Given the description of an element on the screen output the (x, y) to click on. 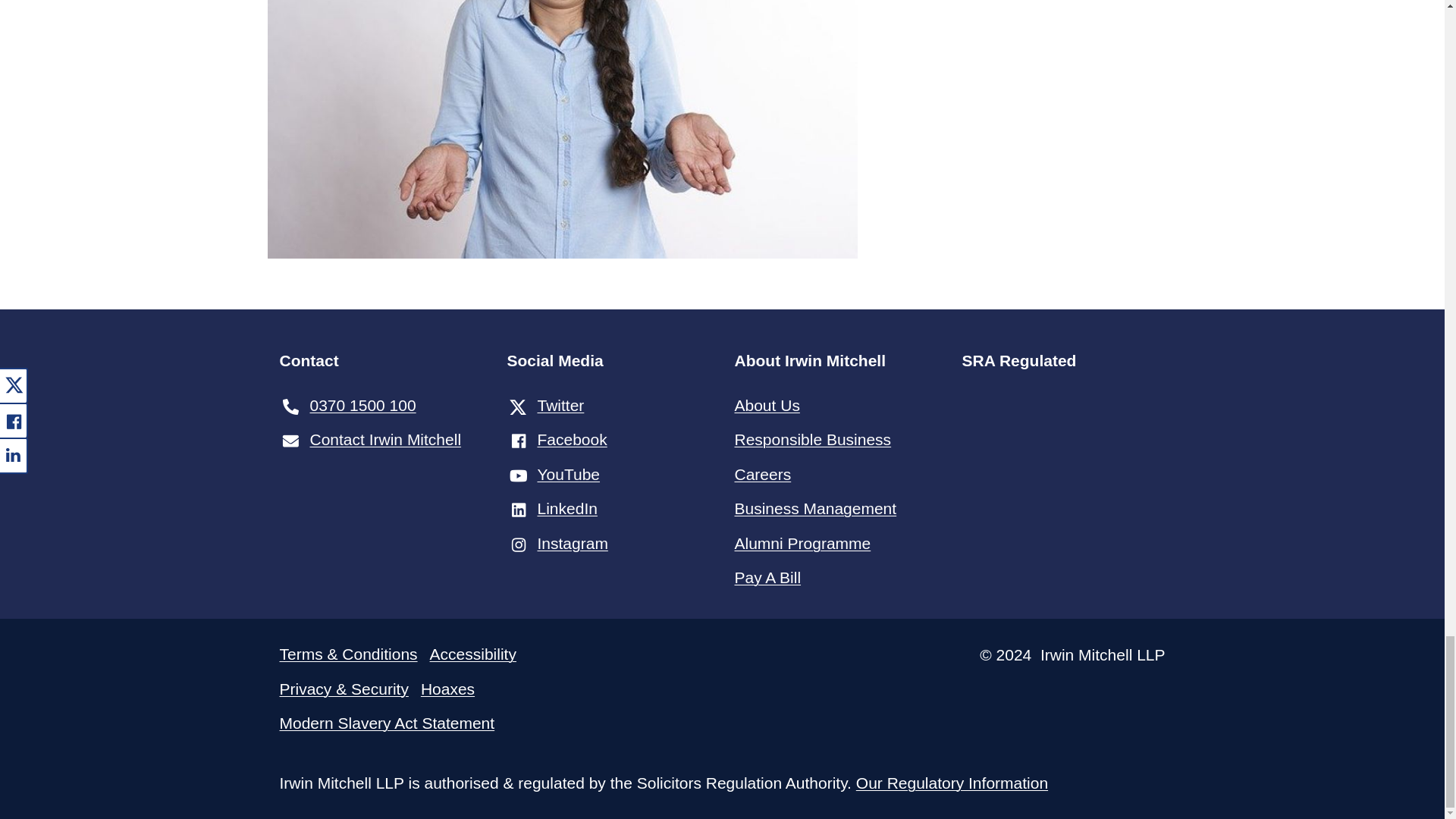
Responsible Business (835, 439)
Careers (835, 474)
Modern Slavery Act Statement (387, 728)
Accessibility (472, 659)
Hoaxes (447, 694)
Pay A Bill (835, 577)
Business Management (835, 508)
About Us (835, 405)
Alumni Programme (835, 543)
